Given the description of an element on the screen output the (x, y) to click on. 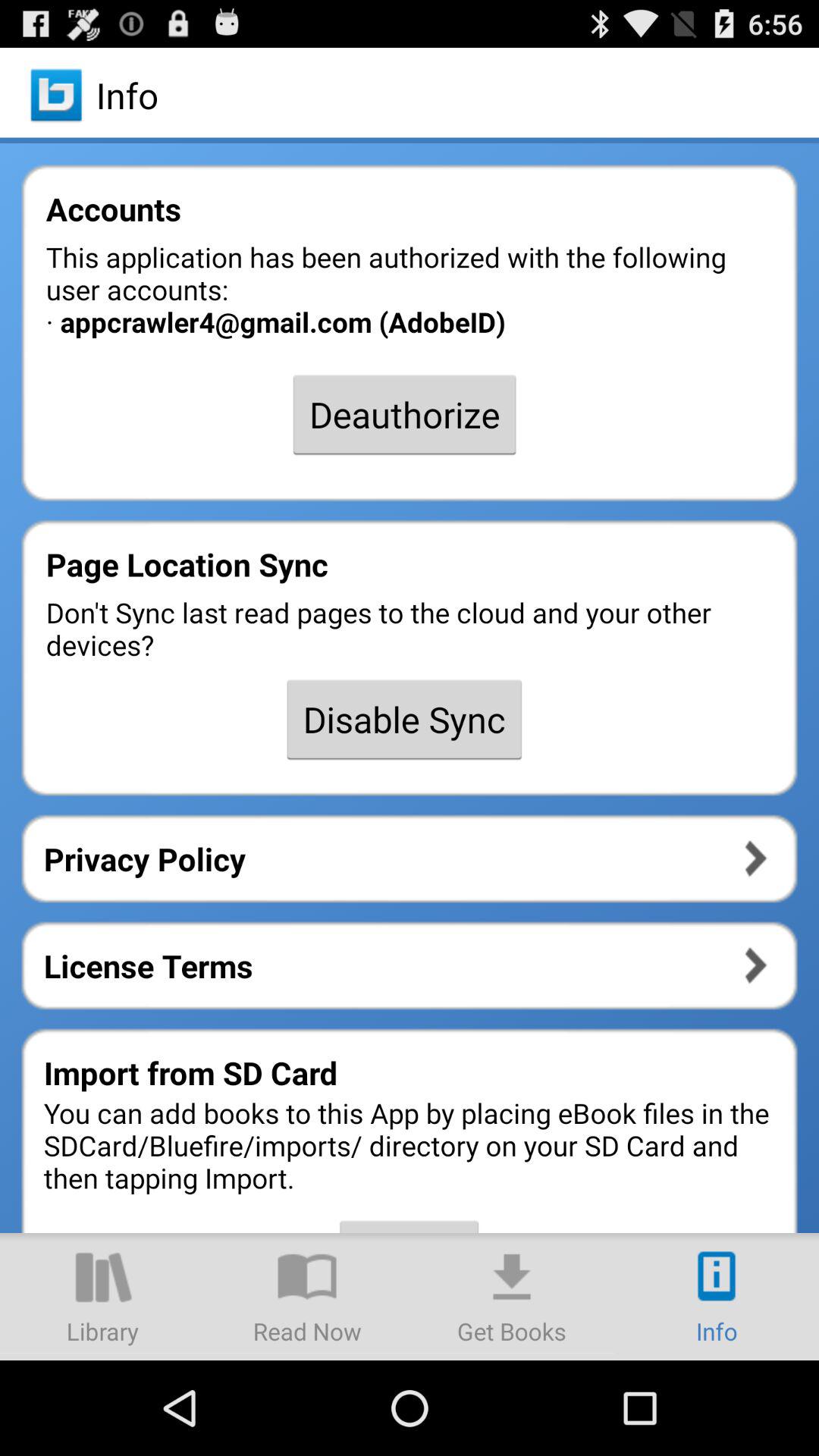
get books (511, 1296)
